Given the description of an element on the screen output the (x, y) to click on. 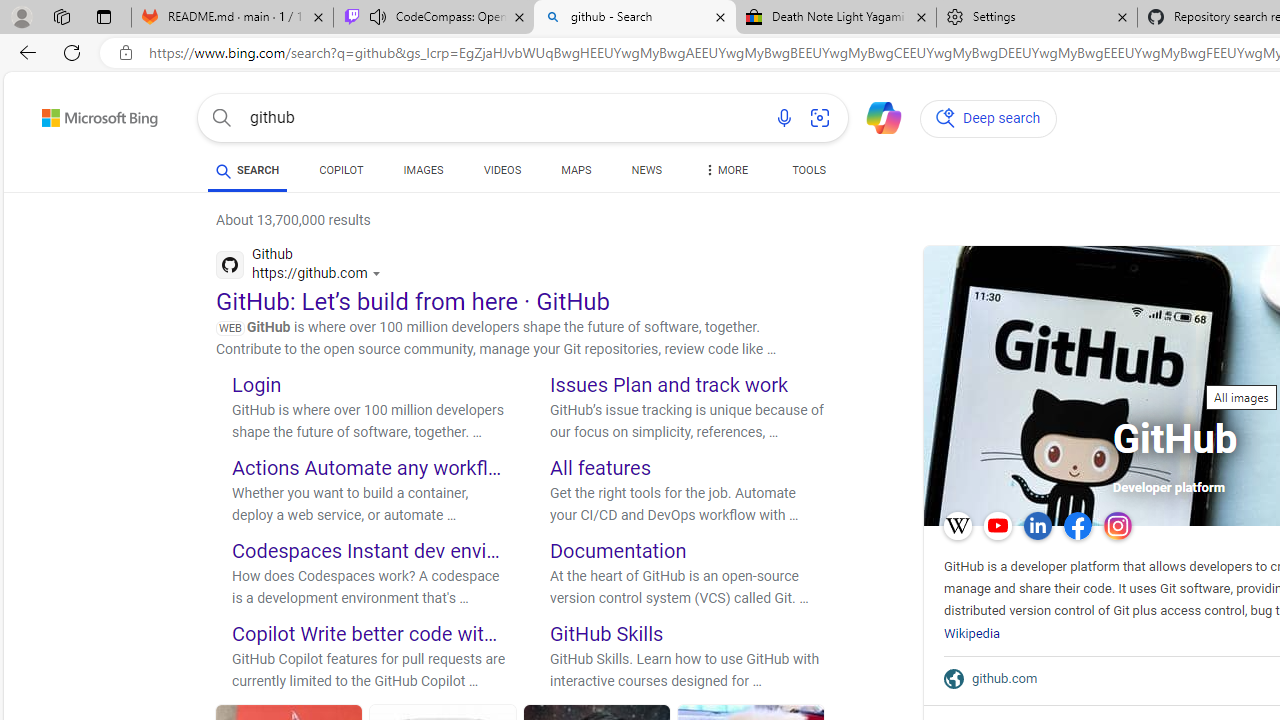
Facebook (1077, 525)
Issues Plan and track work (669, 384)
MAPS (576, 170)
Wikipedia (972, 632)
GitHub (1174, 442)
Login (256, 384)
MAPS (576, 173)
